Given the description of an element on the screen output the (x, y) to click on. 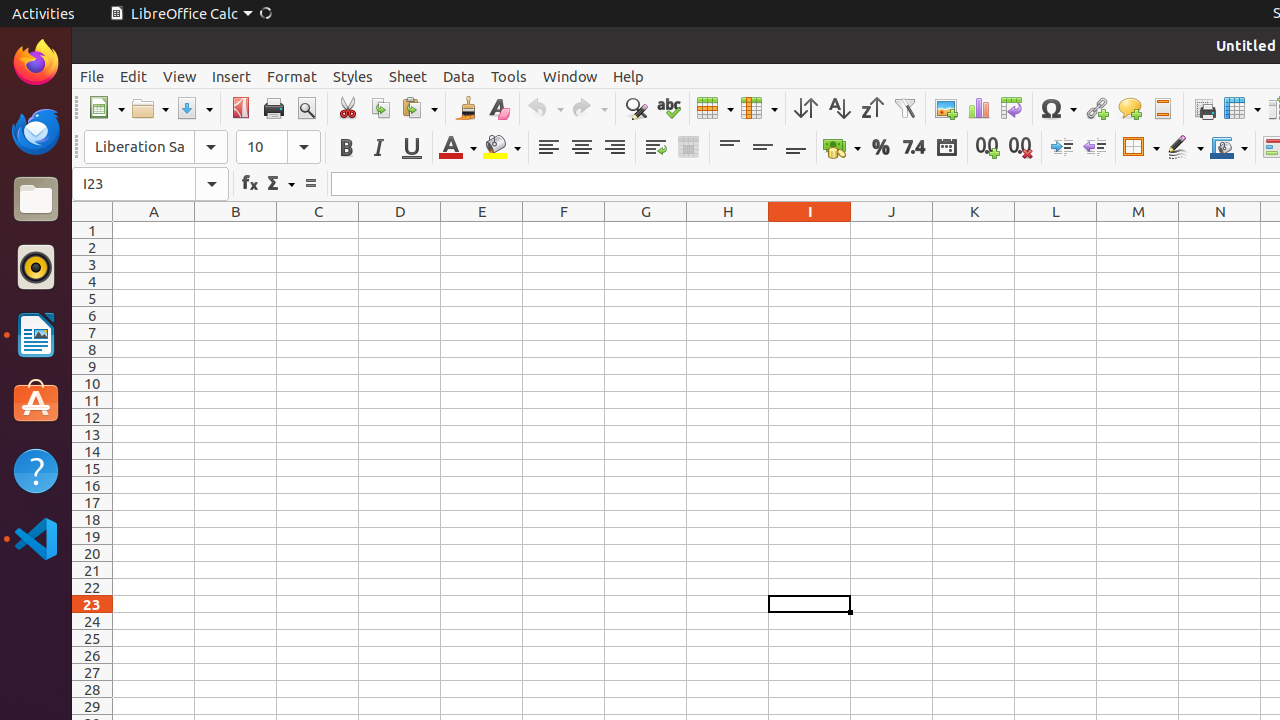
D1 Element type: table-cell (400, 230)
Font Name Element type: combo-box (156, 147)
Font Size Element type: text (261, 147)
PDF Element type: push-button (240, 108)
Name Box Element type: combo-box (150, 184)
